Given the description of an element on the screen output the (x, y) to click on. 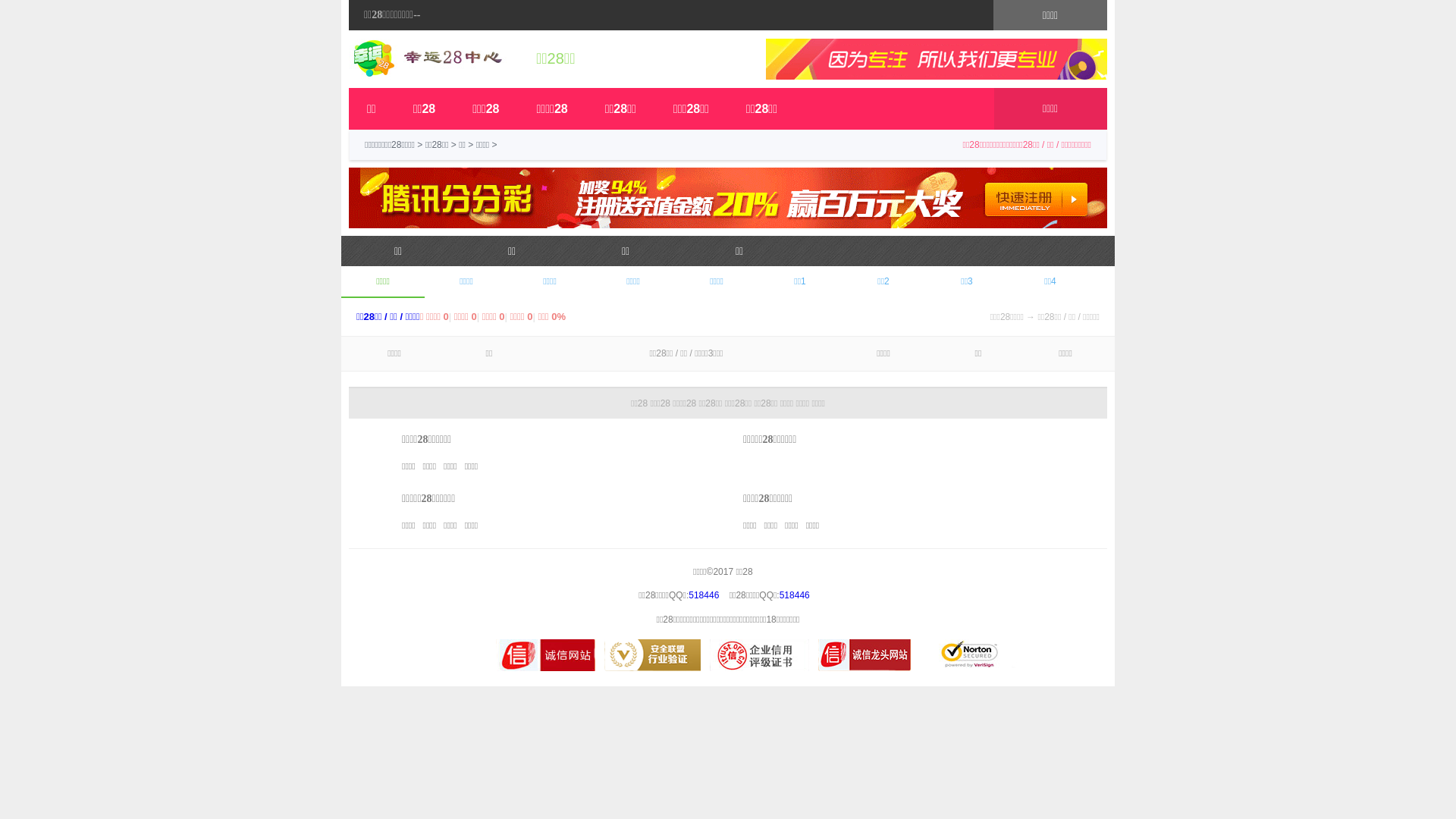
518446 Element type: text (794, 594)
518446 Element type: text (703, 594)
